Given the description of an element on the screen output the (x, y) to click on. 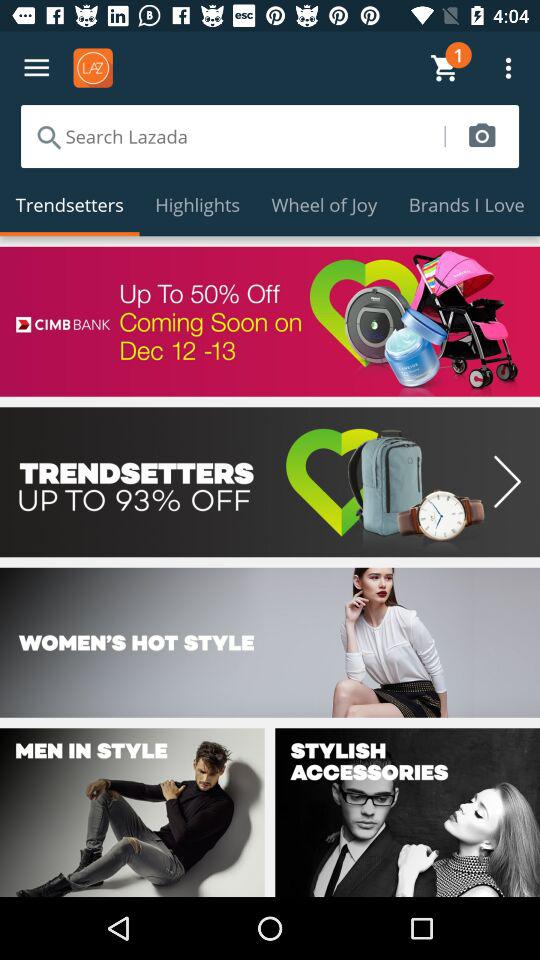
open drop-down menu (36, 68)
